Given the description of an element on the screen output the (x, y) to click on. 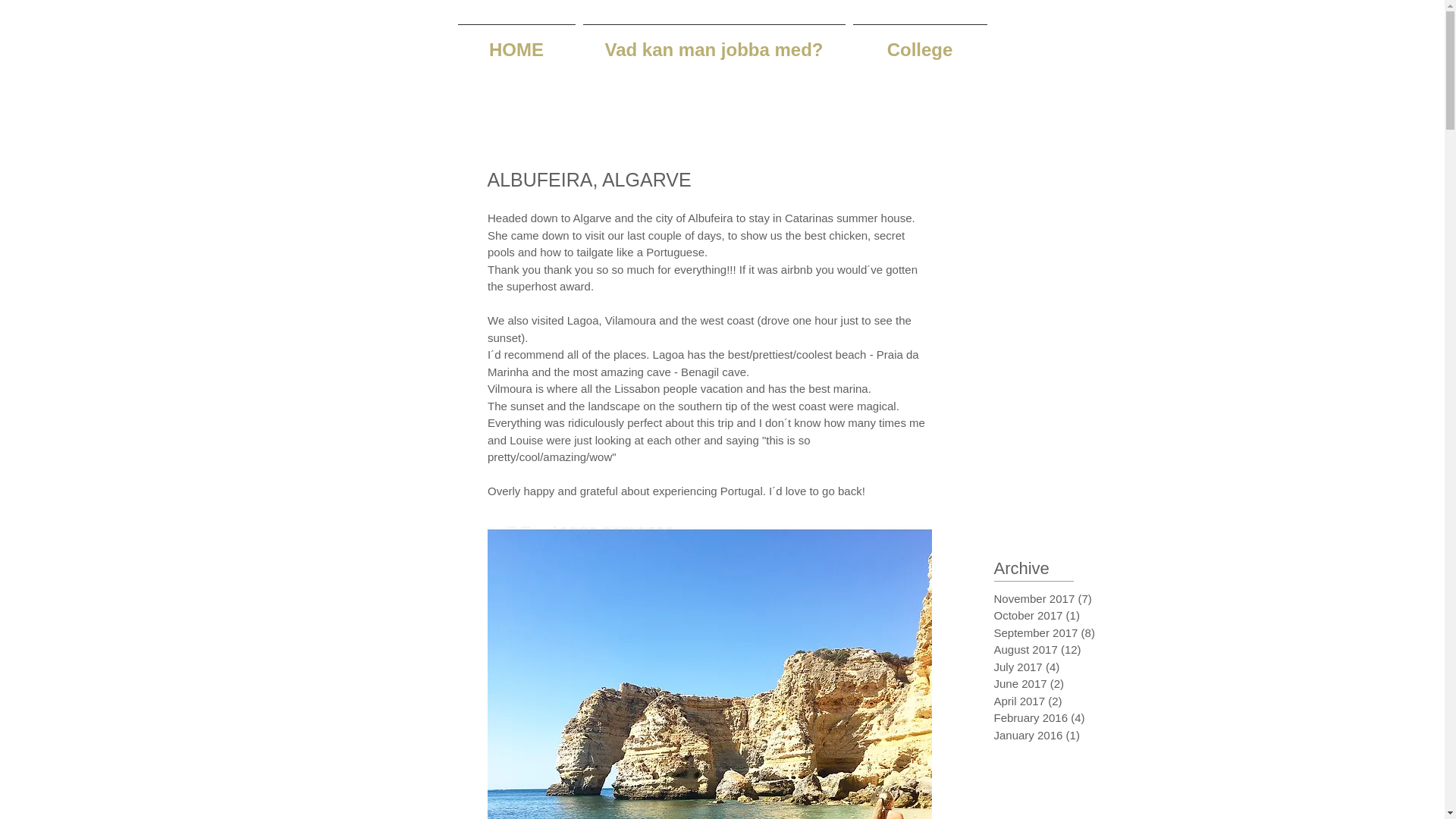
Vad kan man jobba med? (713, 43)
College (919, 43)
HOME (515, 43)
